Given the description of an element on the screen output the (x, y) to click on. 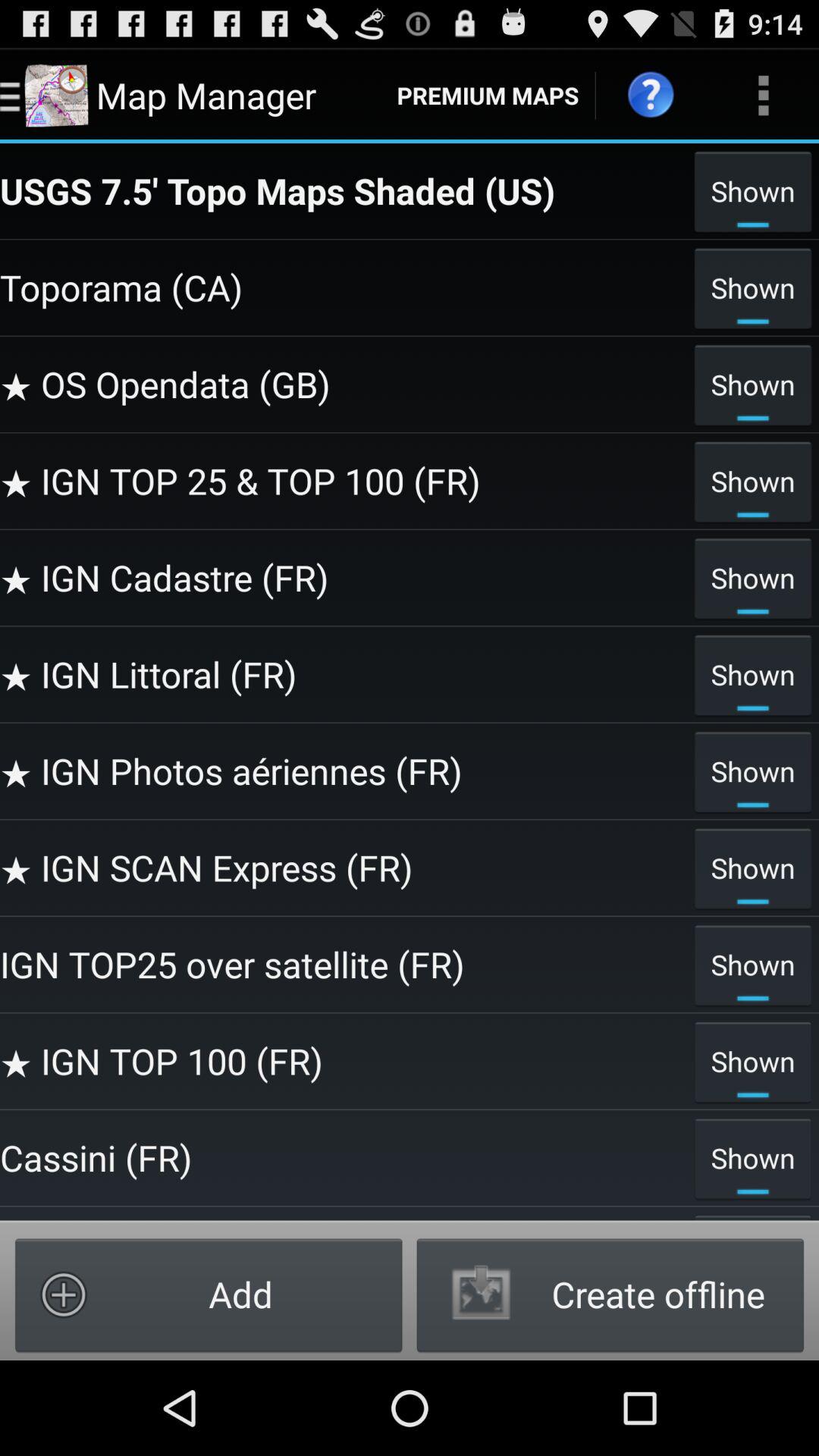
flip until ign scan express (343, 867)
